Given the description of an element on the screen output the (x, y) to click on. 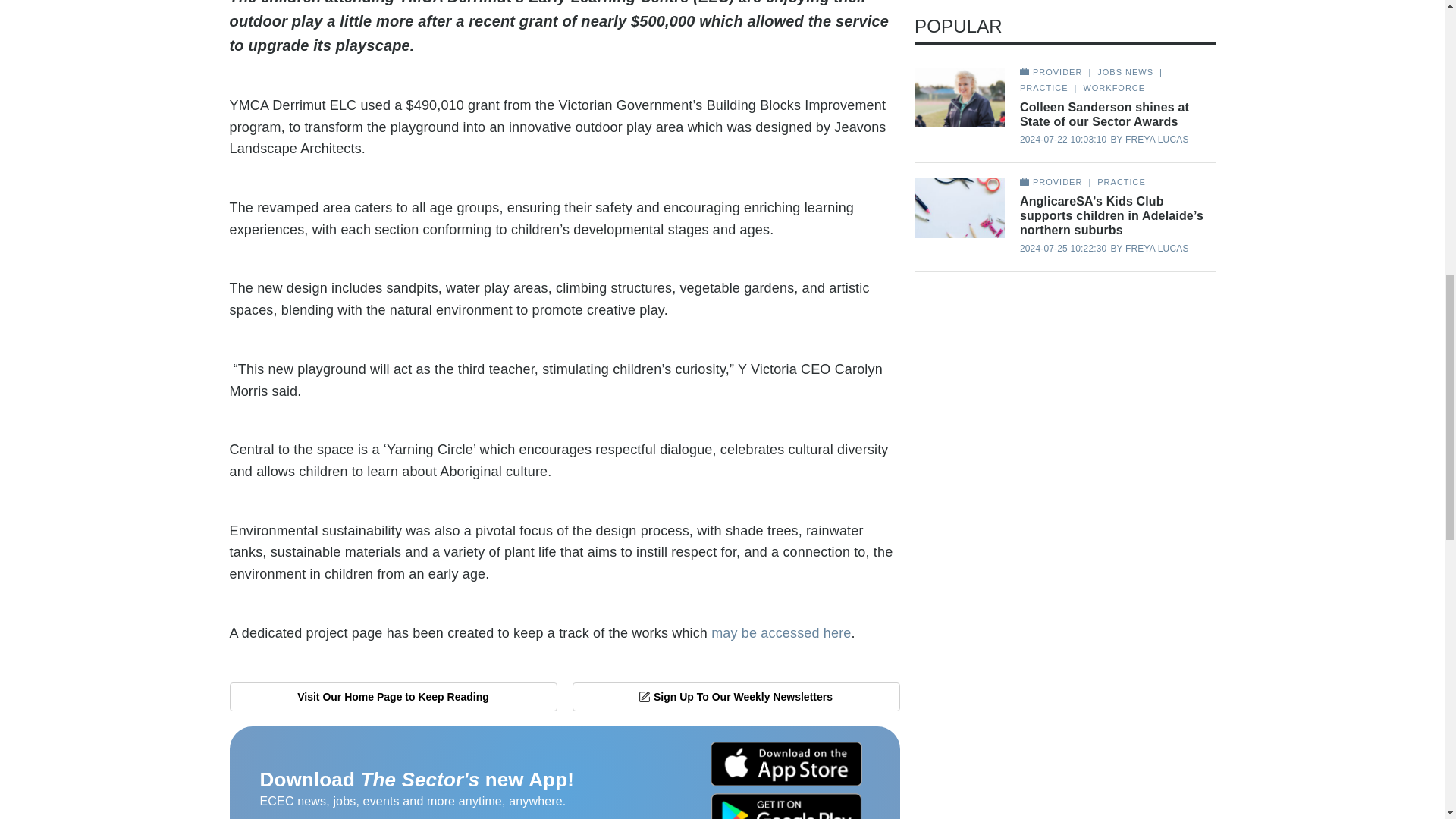
Sign Up To Our Weekly Newsletters (735, 696)
Visit Our Home Page to Keep Reading (392, 696)
may be accessed here (780, 632)
